Given the description of an element on the screen output the (x, y) to click on. 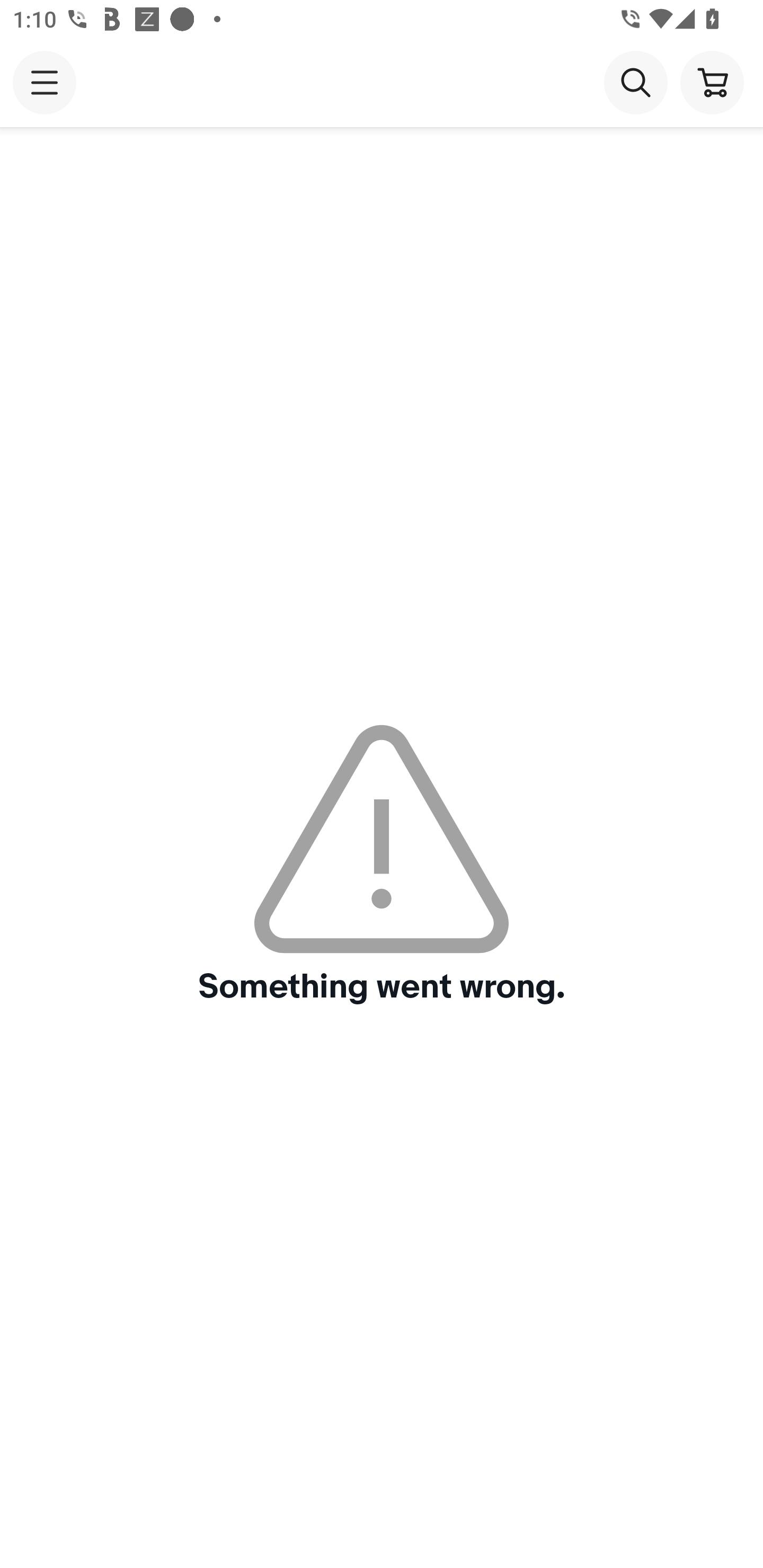
Main navigation, open (44, 82)
Search (635, 81)
Cart button shopping cart (711, 81)
